Given the description of an element on the screen output the (x, y) to click on. 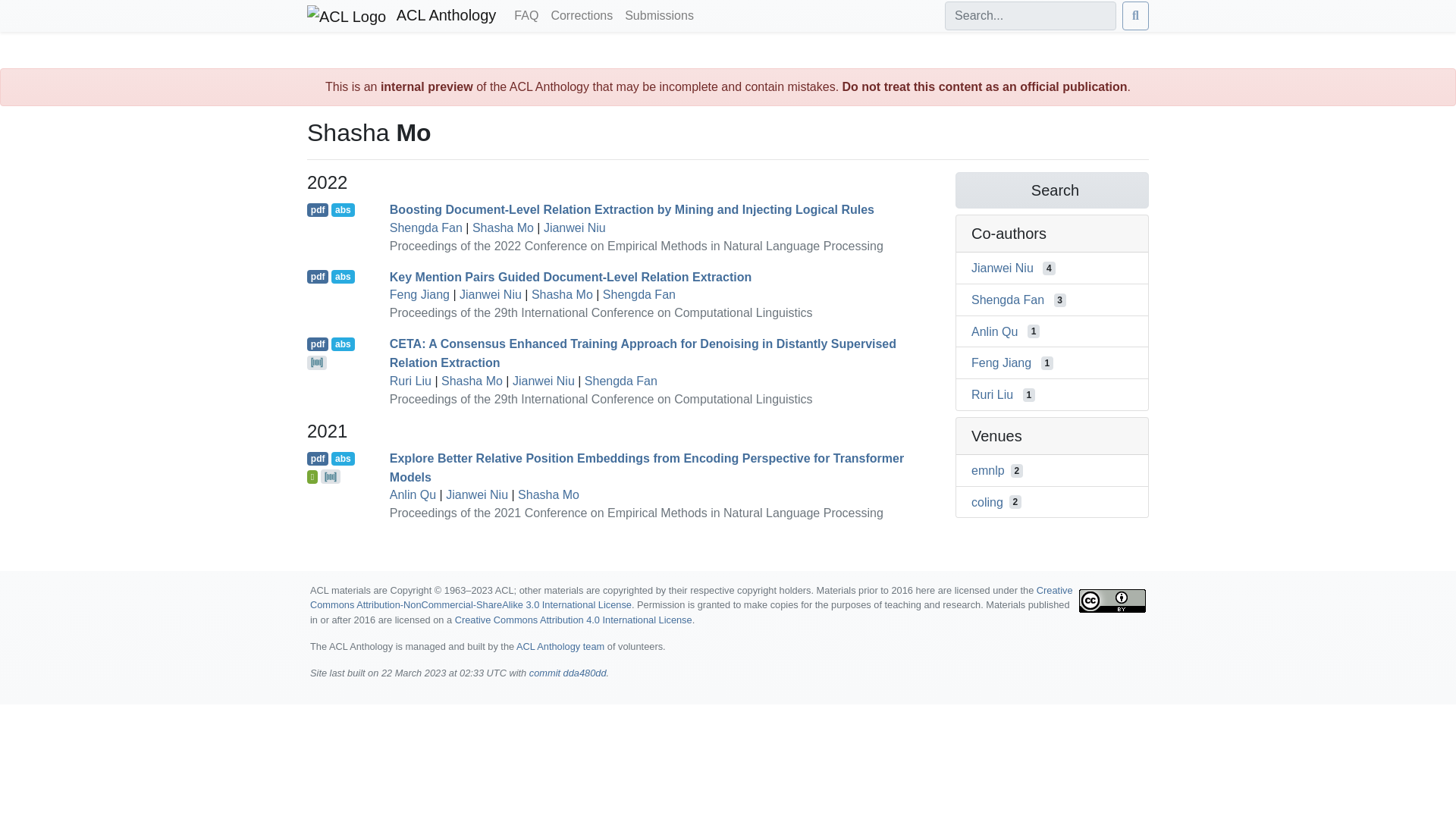
pdf (318, 344)
pdf (318, 276)
Jianwei Niu (574, 227)
abs (342, 276)
Open PDF (318, 344)
Shasha Mo (561, 294)
Code (316, 362)
Shengda Fan (621, 380)
Open PDF (318, 276)
